Given the description of an element on the screen output the (x, y) to click on. 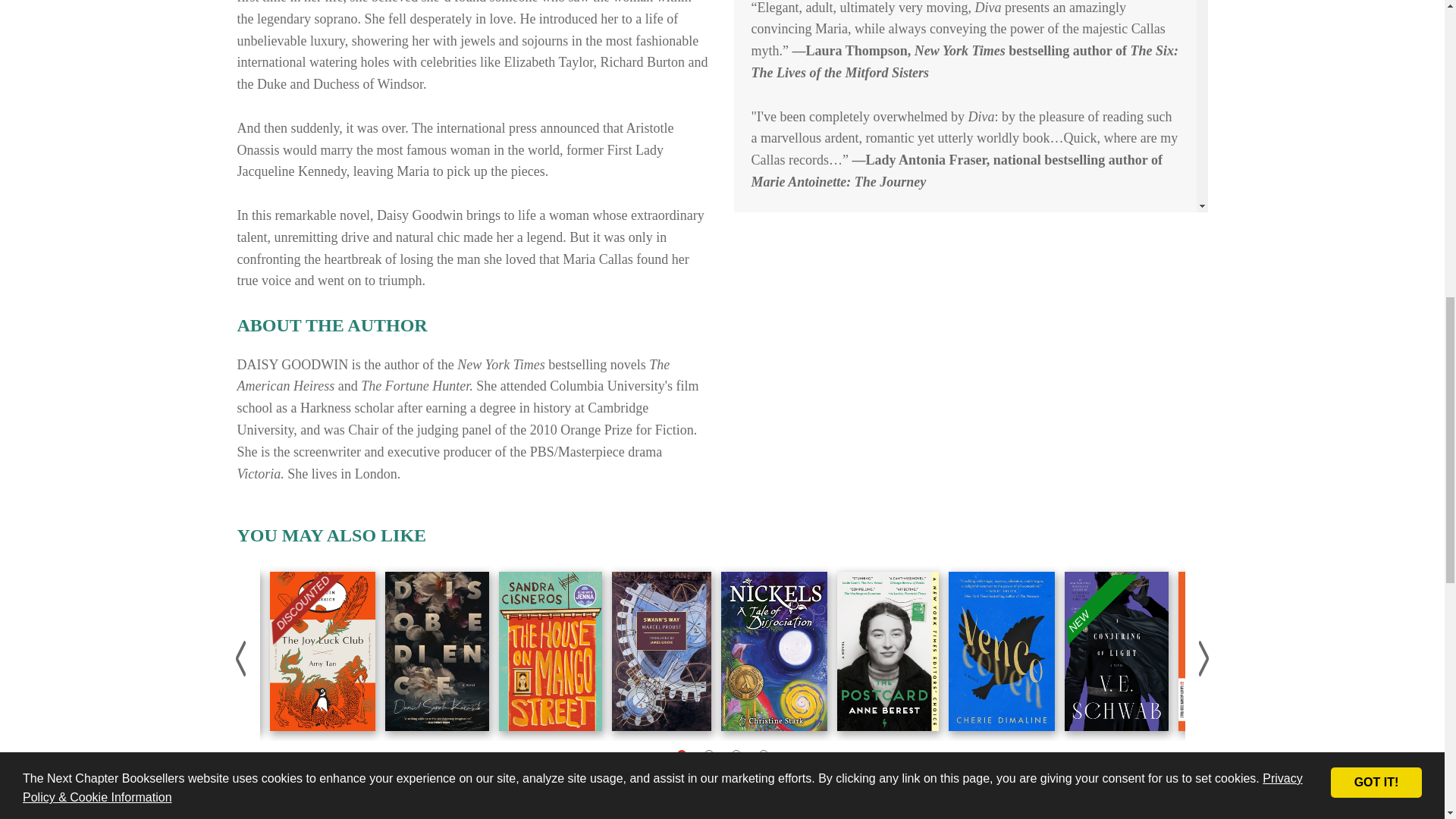
GOT IT! (1376, 37)
